Given the description of an element on the screen output the (x, y) to click on. 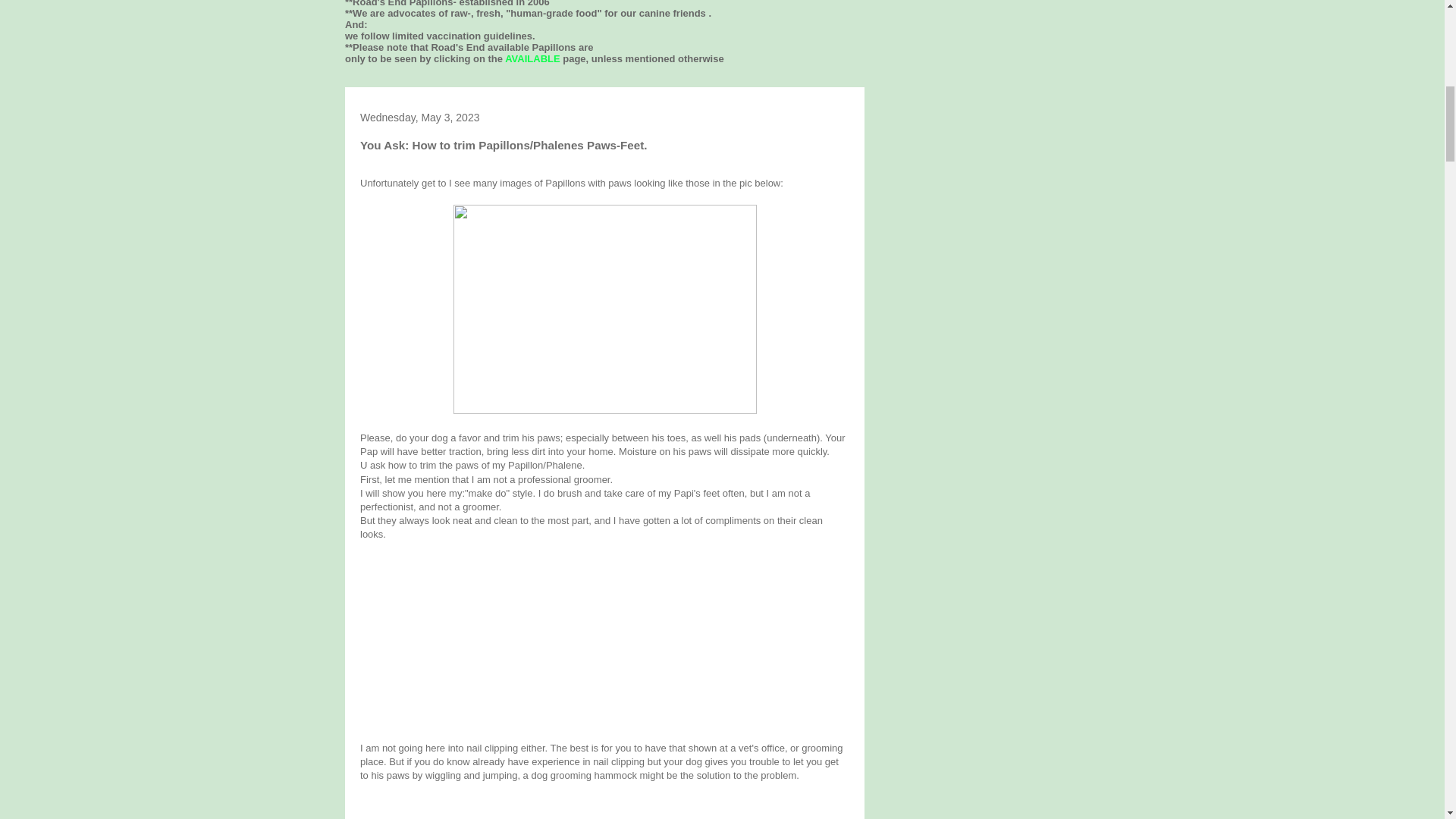
AVAILABLE (532, 58)
